Given the description of an element on the screen output the (x, y) to click on. 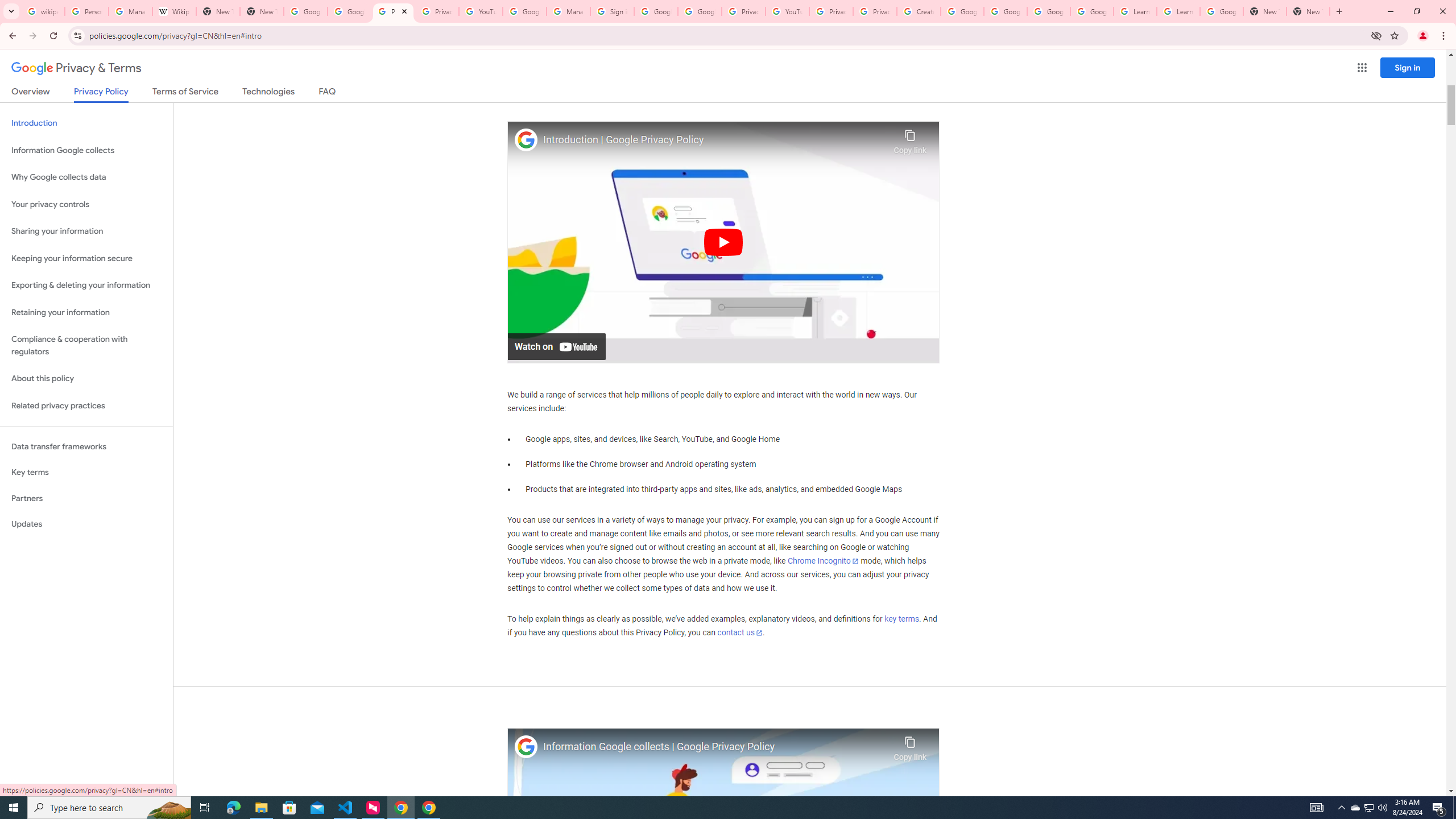
Personalization & Google Search results - Google Search Help (86, 11)
Your privacy controls (86, 204)
Play (723, 241)
New Tab (261, 11)
Google Account Help (962, 11)
Wikipedia:Edit requests - Wikipedia (173, 11)
Sign in - Google Accounts (612, 11)
Chrome Incognito (823, 561)
New Tab (1308, 11)
key terms (900, 619)
